Given the description of an element on the screen output the (x, y) to click on. 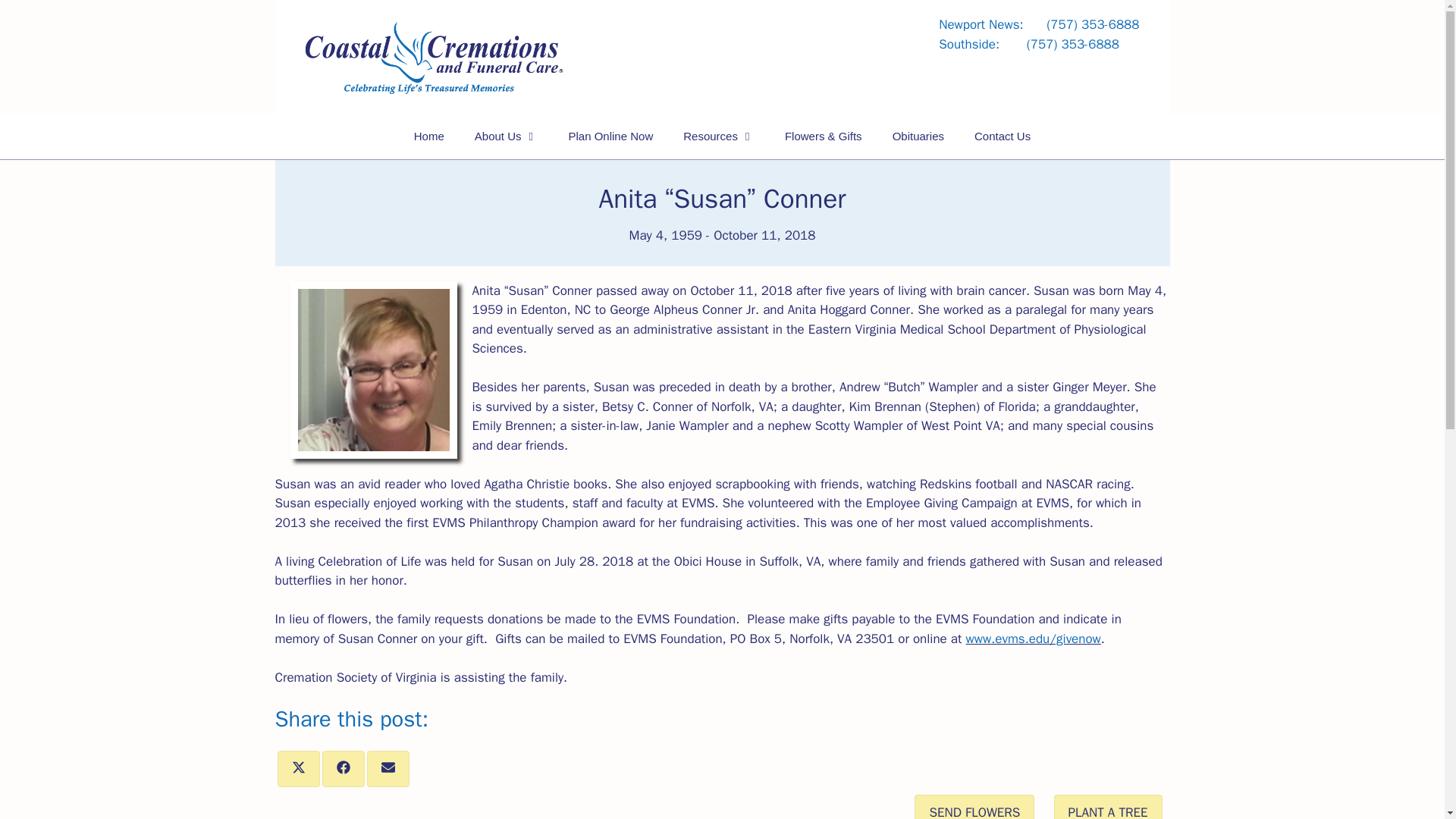
Contact Us (1002, 135)
Obituaries (918, 135)
Home (429, 135)
SHARE ON EMAIL (387, 769)
SHARE ON FACEBOOK (342, 769)
PLANT A TREE (1107, 806)
About Us (506, 135)
SEND FLOWERS (973, 806)
Resources (719, 135)
Plan Online Now (610, 135)
